Given the description of an element on the screen output the (x, y) to click on. 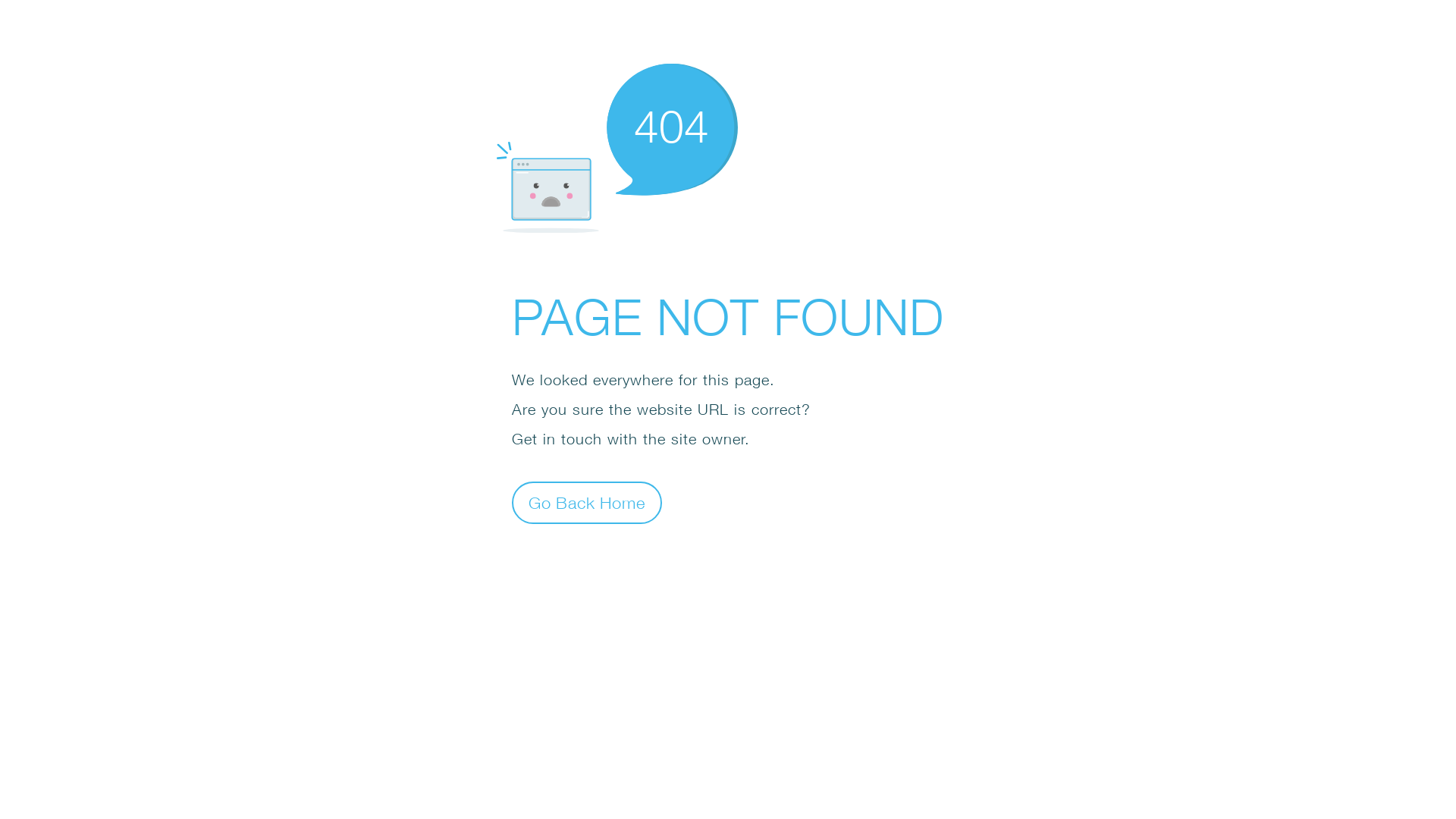
Go Back Home Element type: text (586, 502)
